Given the description of an element on the screen output the (x, y) to click on. 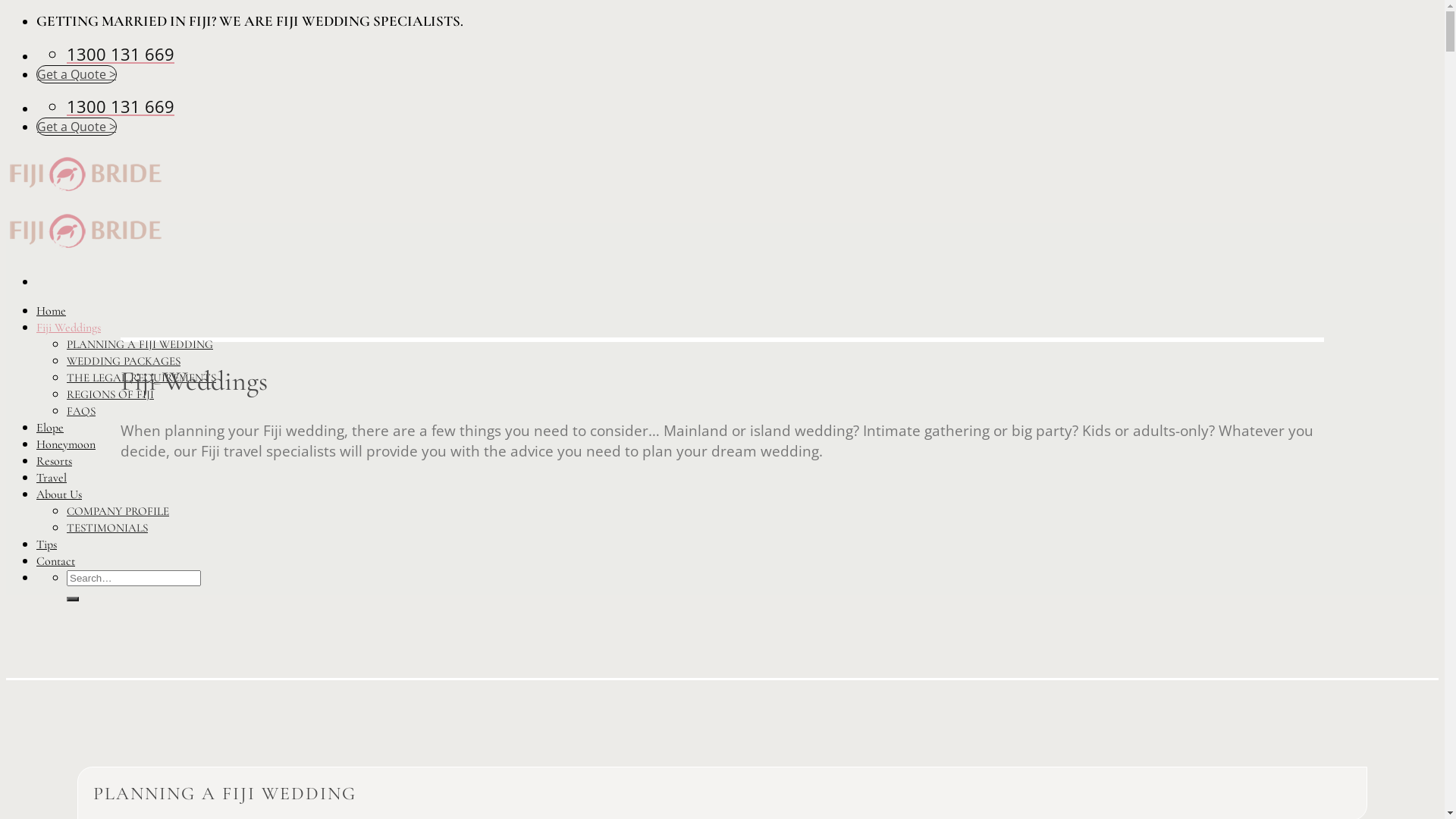
1300 131 669 Element type: text (120, 54)
Fiji Weddings Element type: text (68, 327)
About Us Element type: text (58, 494)
Skip to content Element type: text (5, 11)
REGIONS OF FIJI Element type: text (109, 394)
Get a Quote > Element type: text (76, 126)
FAQS Element type: text (80, 410)
Honeymoon Element type: text (65, 443)
Tips Element type: text (46, 544)
1300 131 669 Element type: text (120, 107)
Get a Quote > Element type: text (76, 74)
WEDDING PACKAGES Element type: text (123, 360)
TESTIMONIALS Element type: text (106, 527)
Elope Element type: text (49, 427)
Travel Element type: text (51, 477)
THE LEGAL REQUIREMENTS Element type: text (141, 377)
Home Element type: text (50, 310)
PLANNING A FIJI WEDDING Element type: text (139, 344)
Resorts Element type: text (54, 460)
Contact Element type: text (55, 560)
COMPANY PROFILE Element type: text (117, 510)
